Given the description of an element on the screen output the (x, y) to click on. 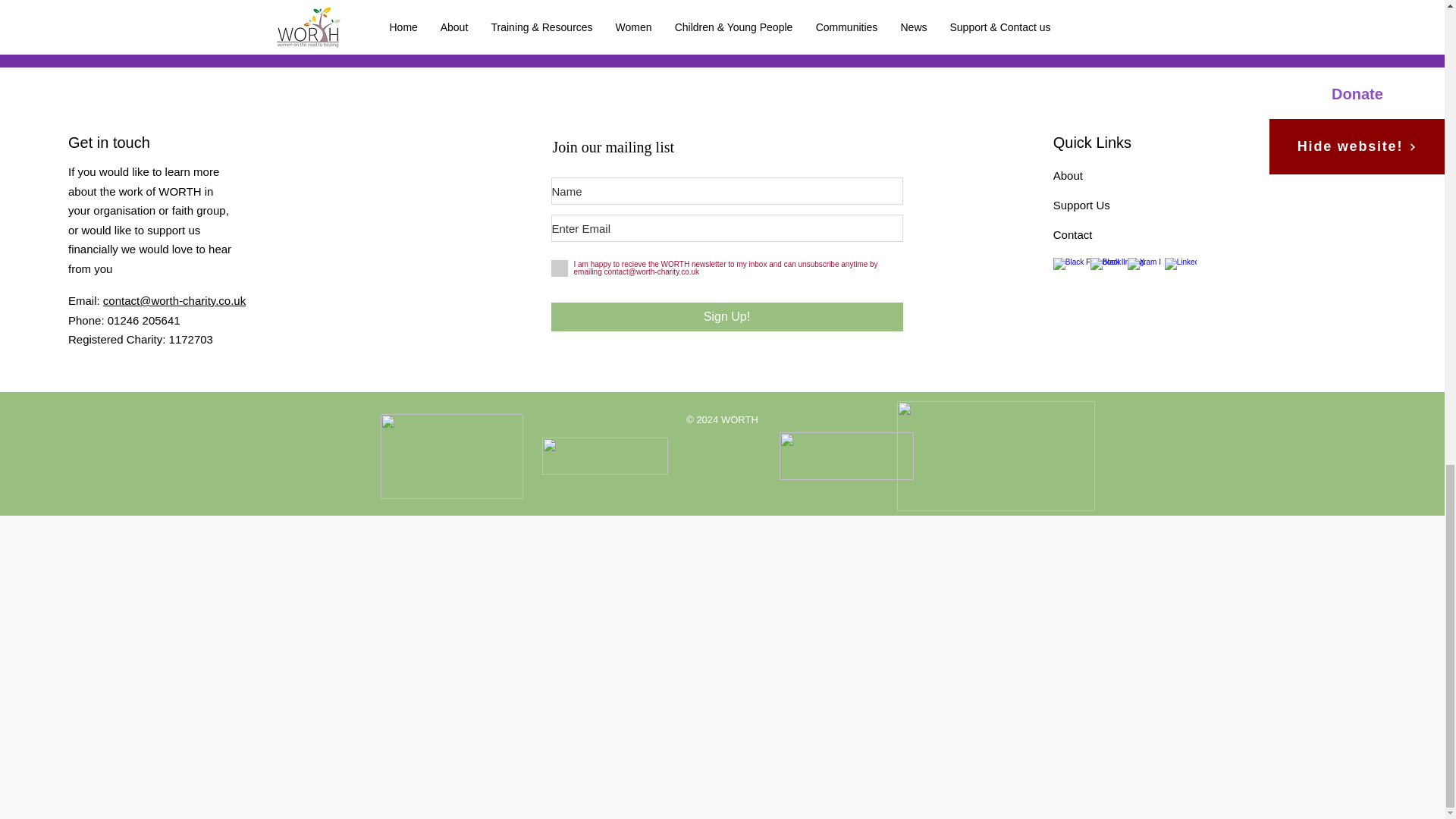
Contact (1072, 234)
About (1067, 174)
Support Us (1080, 205)
Sign Up! (726, 316)
Donate (721, 23)
